Given the description of an element on the screen output the (x, y) to click on. 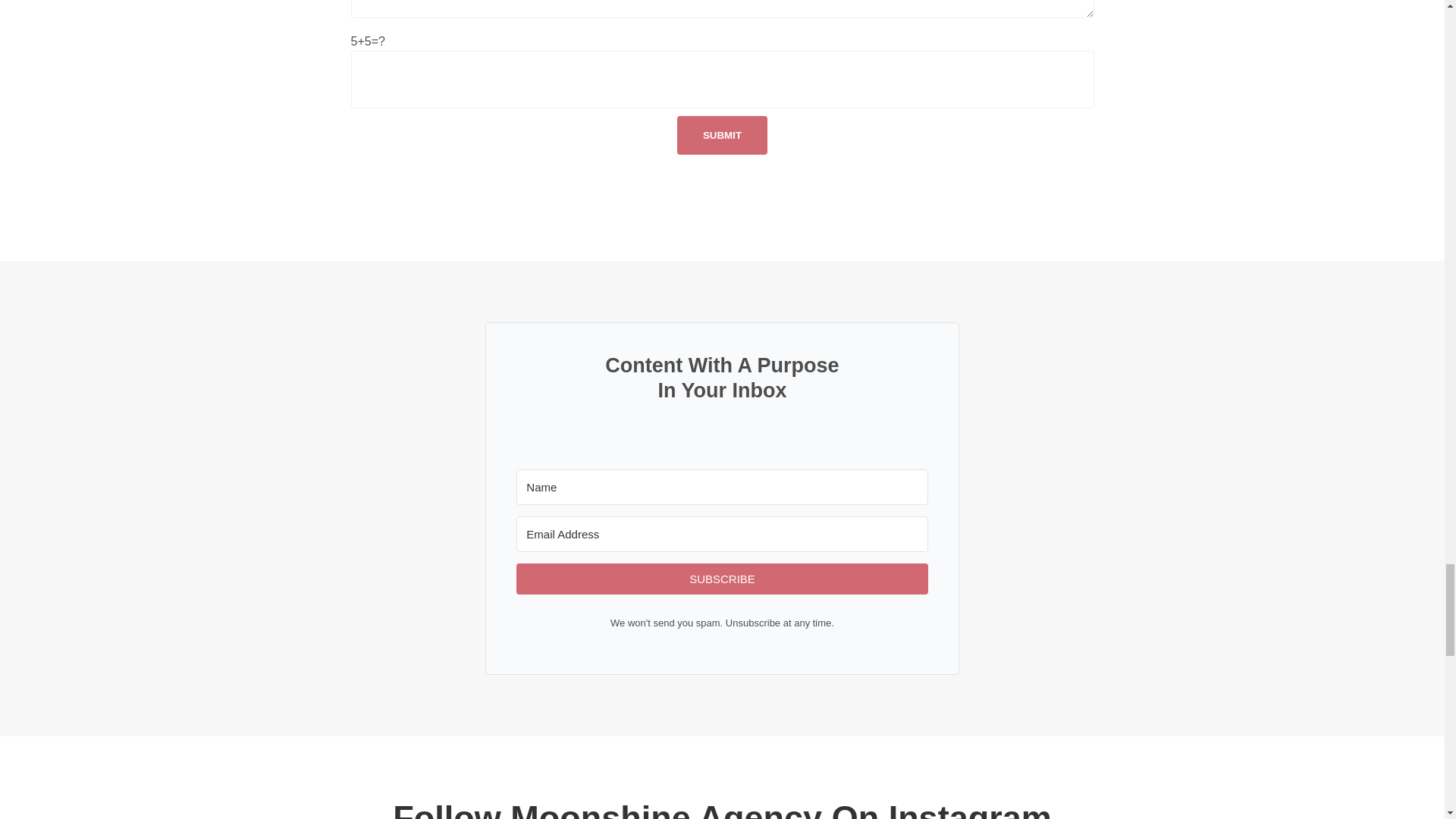
SUBMIT (722, 135)
